Given the description of an element on the screen output the (x, y) to click on. 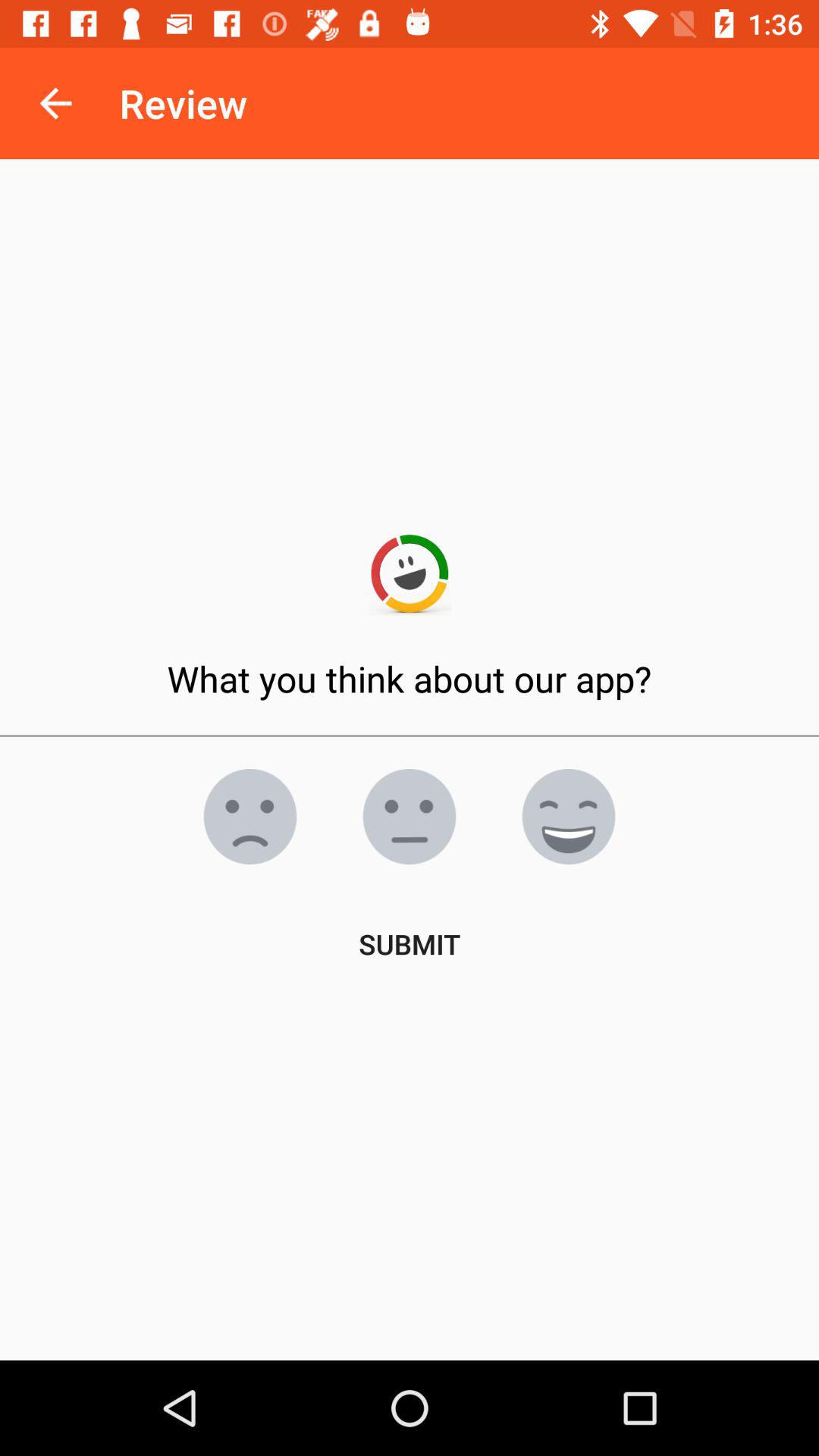
not happy (249, 816)
